Given the description of an element on the screen output the (x, y) to click on. 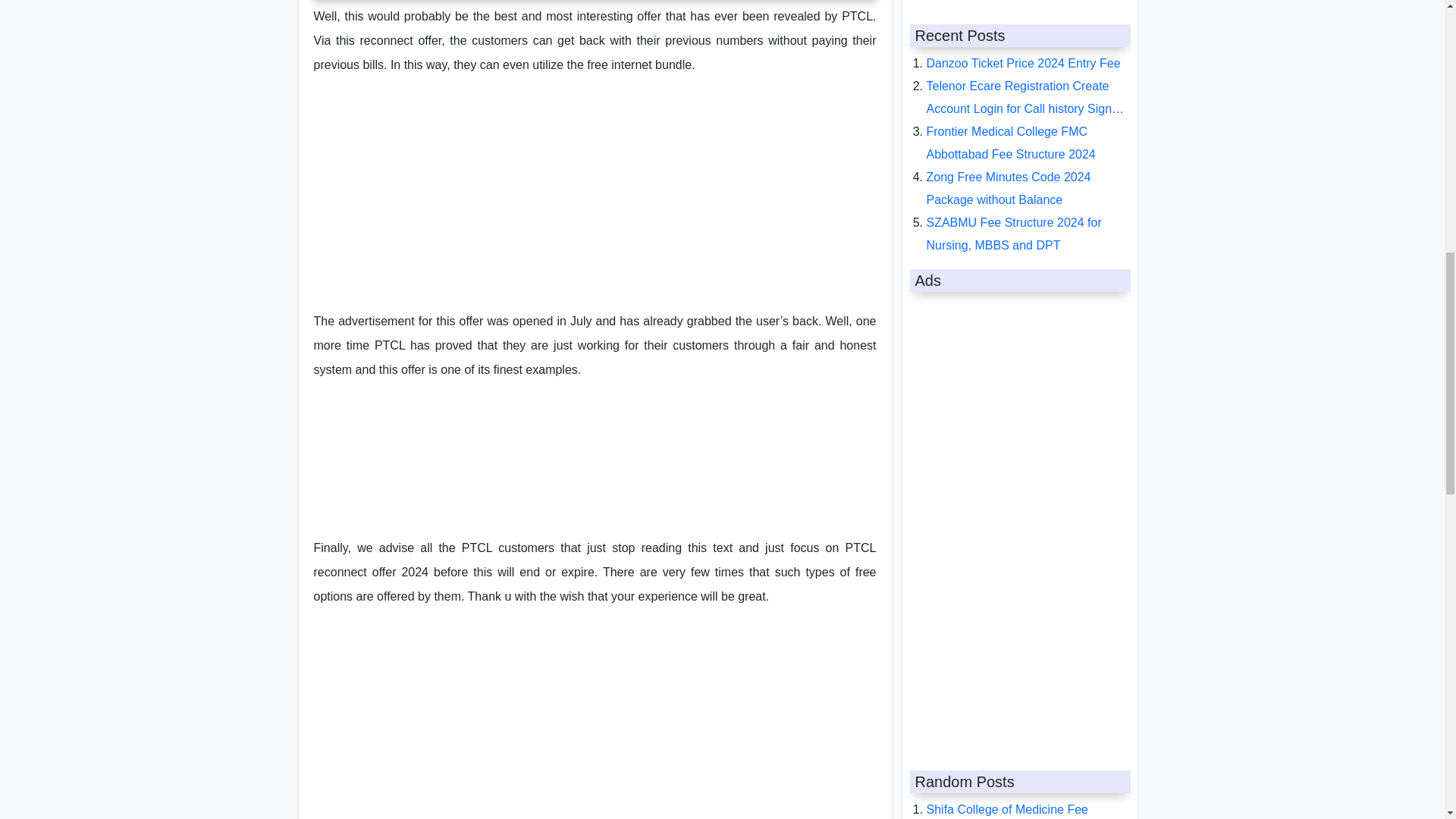
Advertisement (595, 719)
Advertisement (595, 195)
Best Shoes Brands of Pakistan (1010, 267)
BISE Faisalabad Board 9th Class Result 2024 (1016, 302)
easypaisa Shops in Lahore Model Town, Cantt, Johar Town, DHA (1017, 188)
Kids Fall Winter Collection by Outfitters Junior (1005, 347)
Sargodha Board Matric 9th Class Roll Number Slip 2015 (1027, 233)
Peshawar Board 5th Class Result 2018 under BISEP (1017, 97)
How To Keep Skin Fair And Glowing In Winter (1023, 393)
BRT Peshawar Route Map Timings Ticket Price Stations (1020, 438)
